Given the description of an element on the screen output the (x, y) to click on. 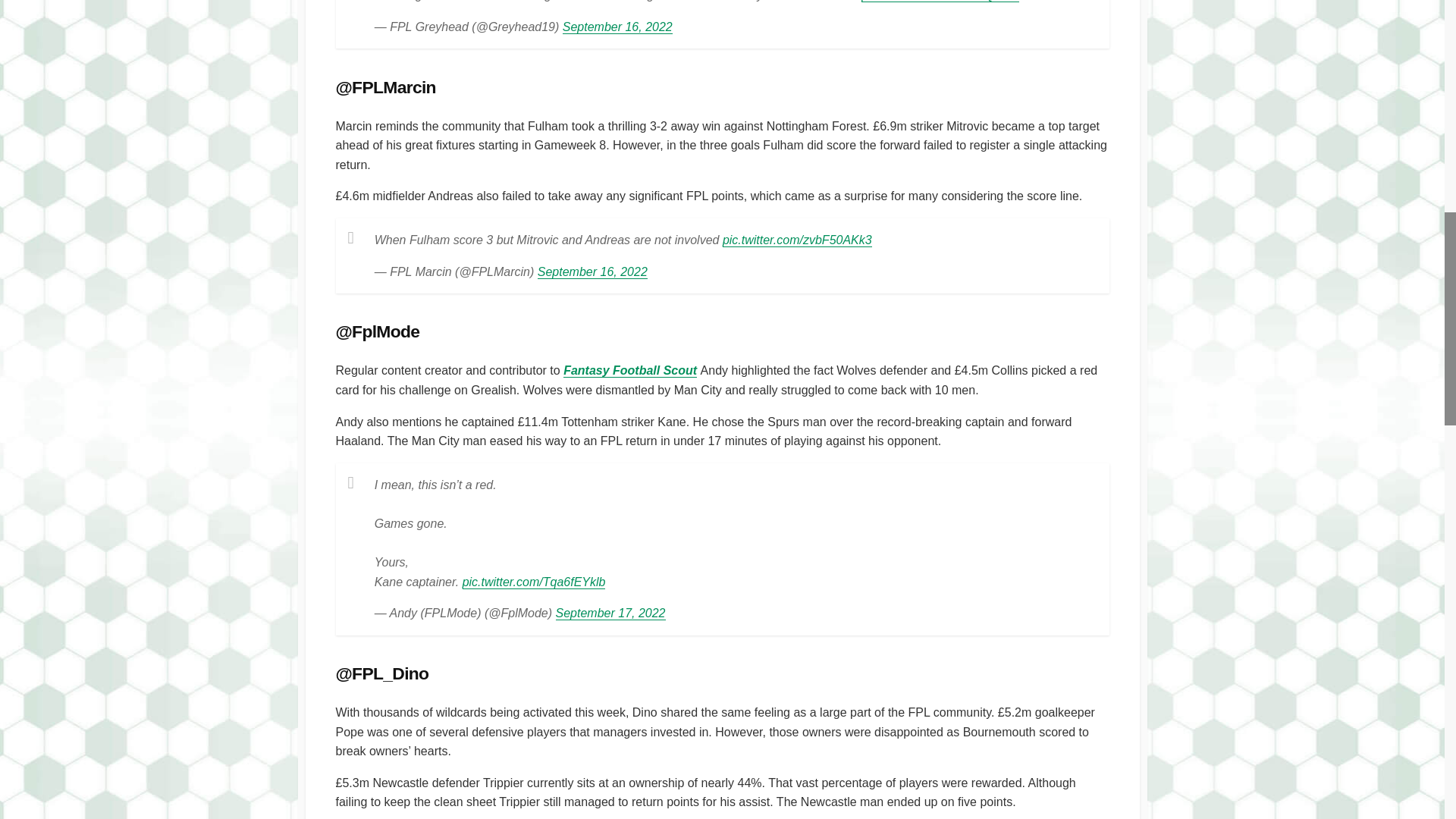
September 17, 2022 (610, 612)
Fantasy Football Scout (630, 369)
September 16, 2022 (617, 26)
September 16, 2022 (592, 271)
